Given the description of an element on the screen output the (x, y) to click on. 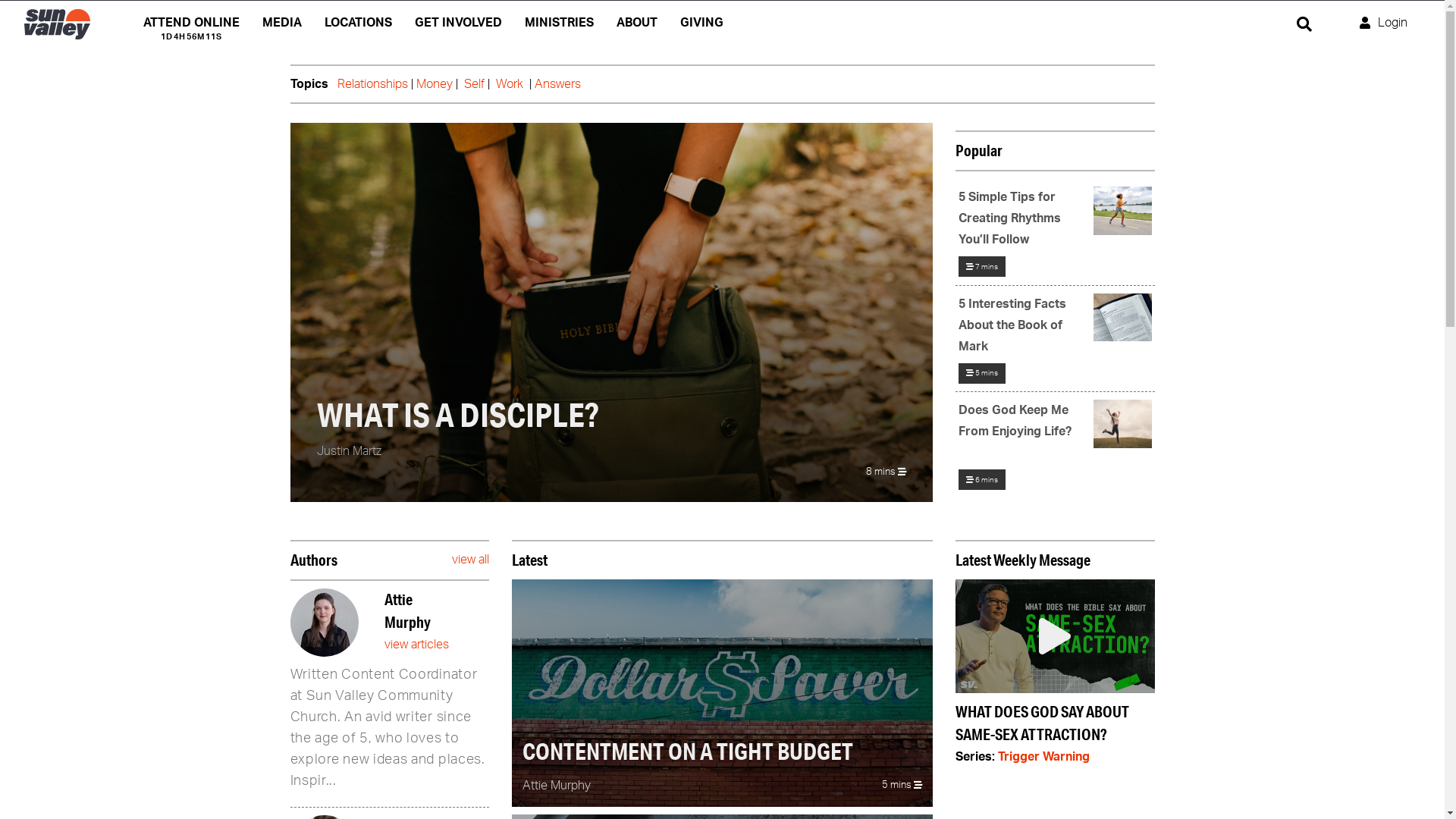
CONTENTMENT ON A TIGHT BUDGET
Attie Murphy
5 mins Element type: text (721, 692)
Work Element type: text (509, 84)
Does God Keep Me From Enjoying Life? Element type: text (1055, 431)
Money Element type: text (433, 84)
Self Element type: text (474, 84)
Trigger Warning Element type: text (1043, 756)
5 Interesting Facts About the Book of Mark Element type: text (1055, 324)
Answers Element type: text (556, 84)
WHAT DOES GOD SAY ABOUT SAME-SEX ATTRACTION? Element type: text (1054, 670)
view articles Element type: text (416, 644)
WHAT IS A DISCIPLE?
Justin Martz
8 mins Element type: text (610, 312)
Relationships Element type: text (371, 84)
view all Element type: text (470, 559)
